Given the description of an element on the screen output the (x, y) to click on. 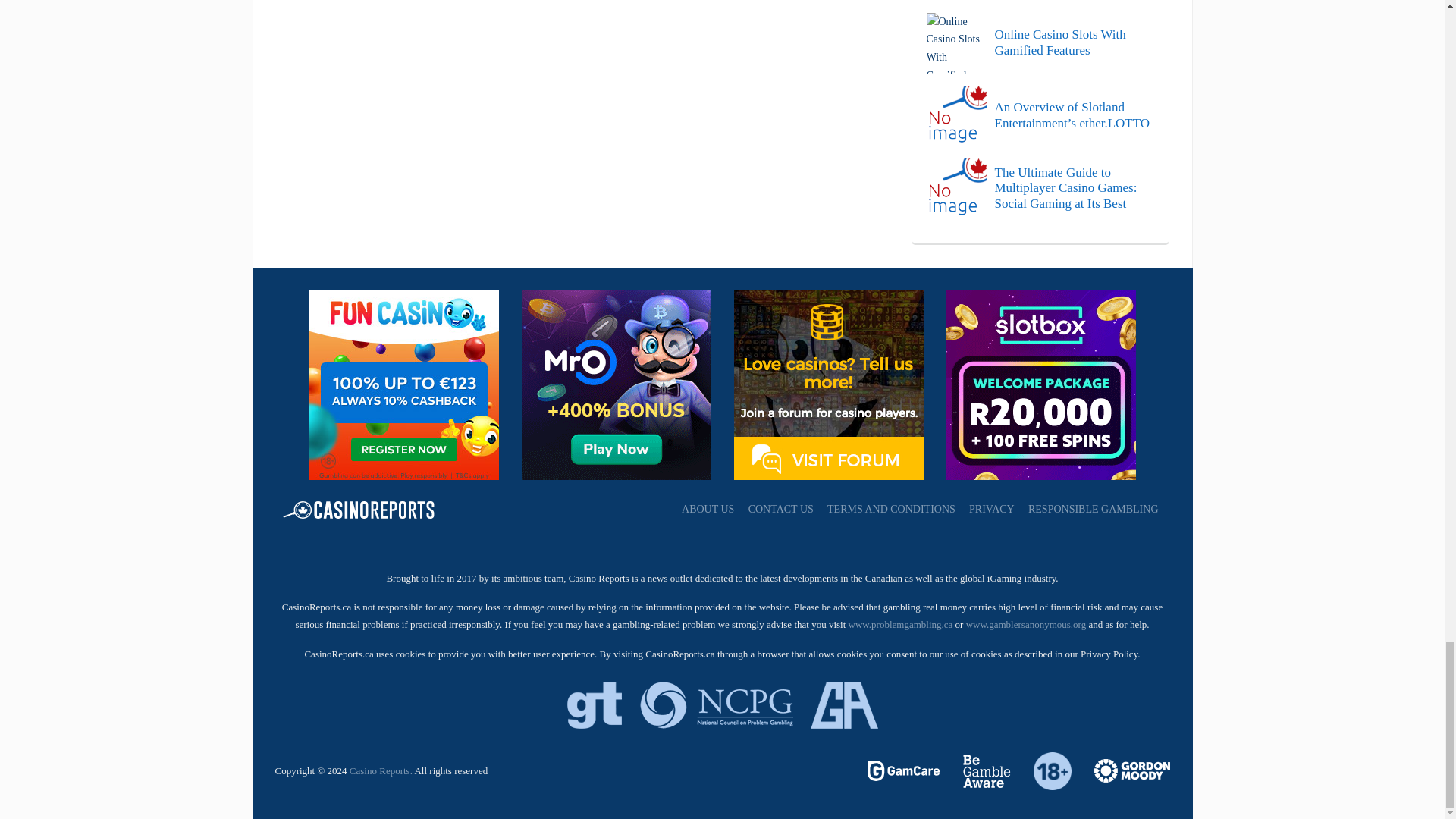
Latest Casino Bonuses Forum (828, 383)
Online Casino Slots With Gamified Features (1040, 43)
